Given the description of an element on the screen output the (x, y) to click on. 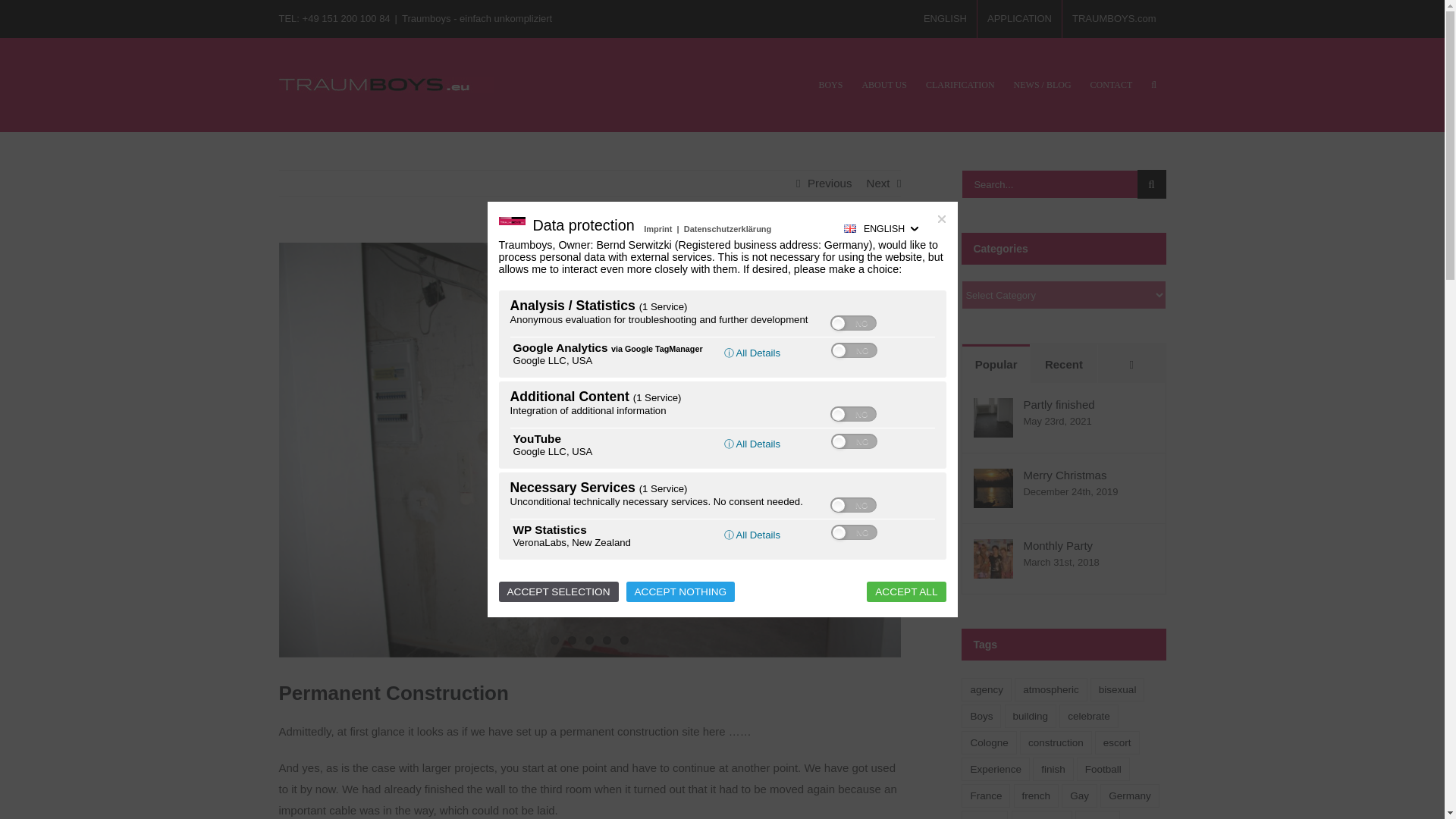
ENGLISH (945, 18)
TRAUMBOYS.com (1114, 18)
CLARIFICATION (959, 84)
Traumboys - einfach unkompliziert (476, 18)
APPLICATION (1018, 18)
